Given the description of an element on the screen output the (x, y) to click on. 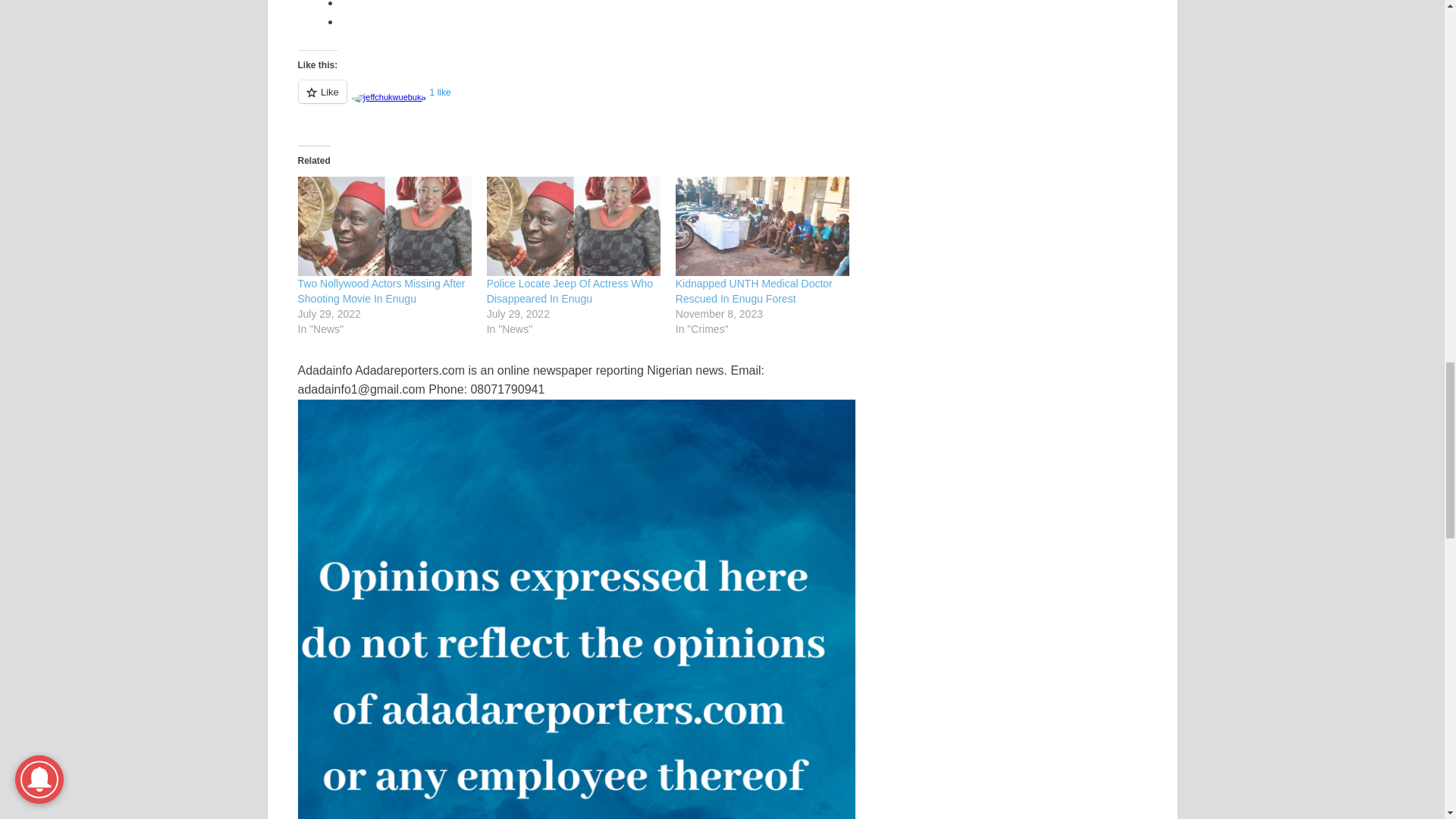
Like or Reblog (575, 100)
Two Nollywood Actors Missing After Shooting Movie In Enugu (383, 226)
